Given the description of an element on the screen output the (x, y) to click on. 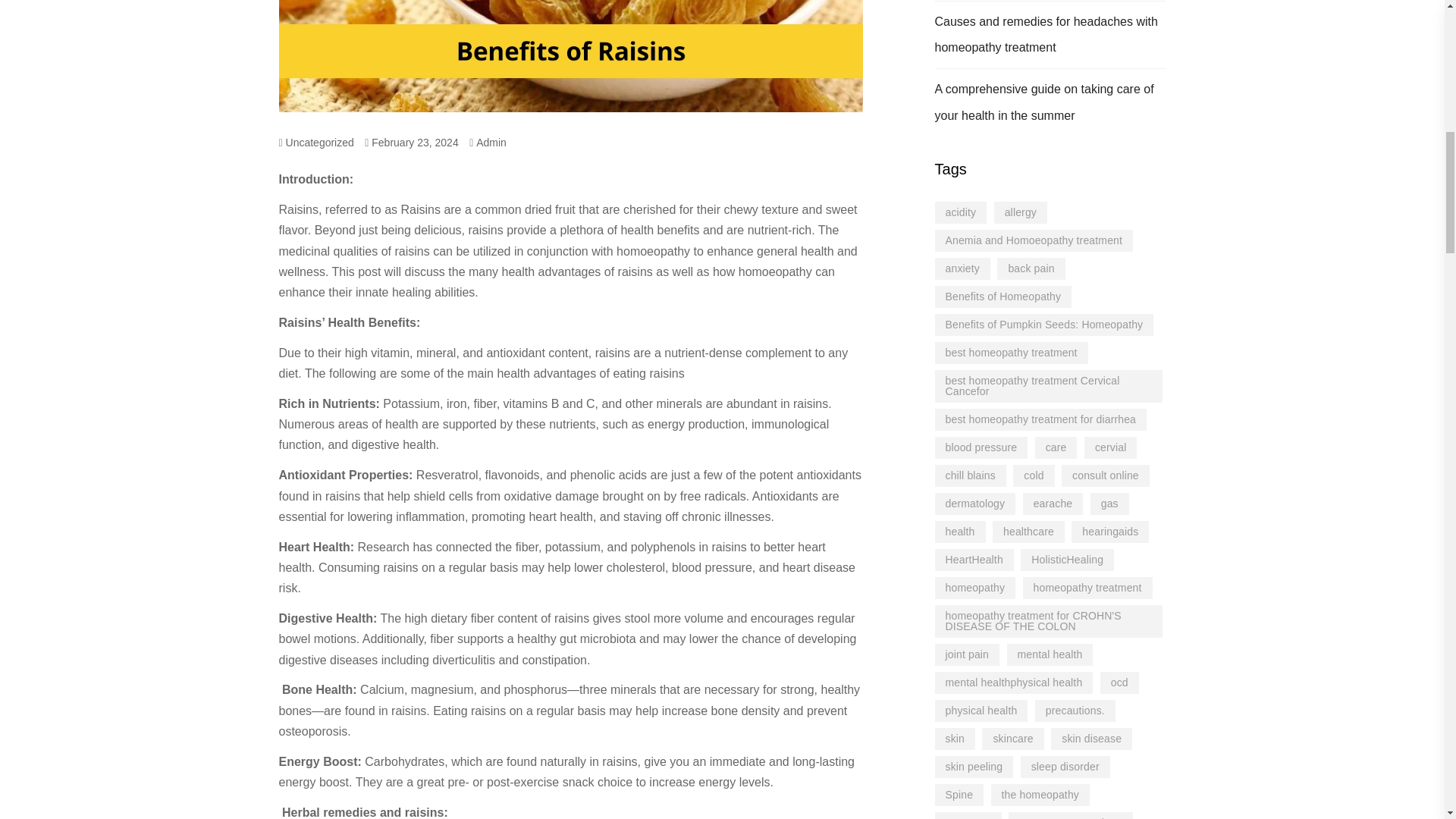
Causes and remedies for headaches with homeopathy treatment (1045, 34)
